Given the description of an element on the screen output the (x, y) to click on. 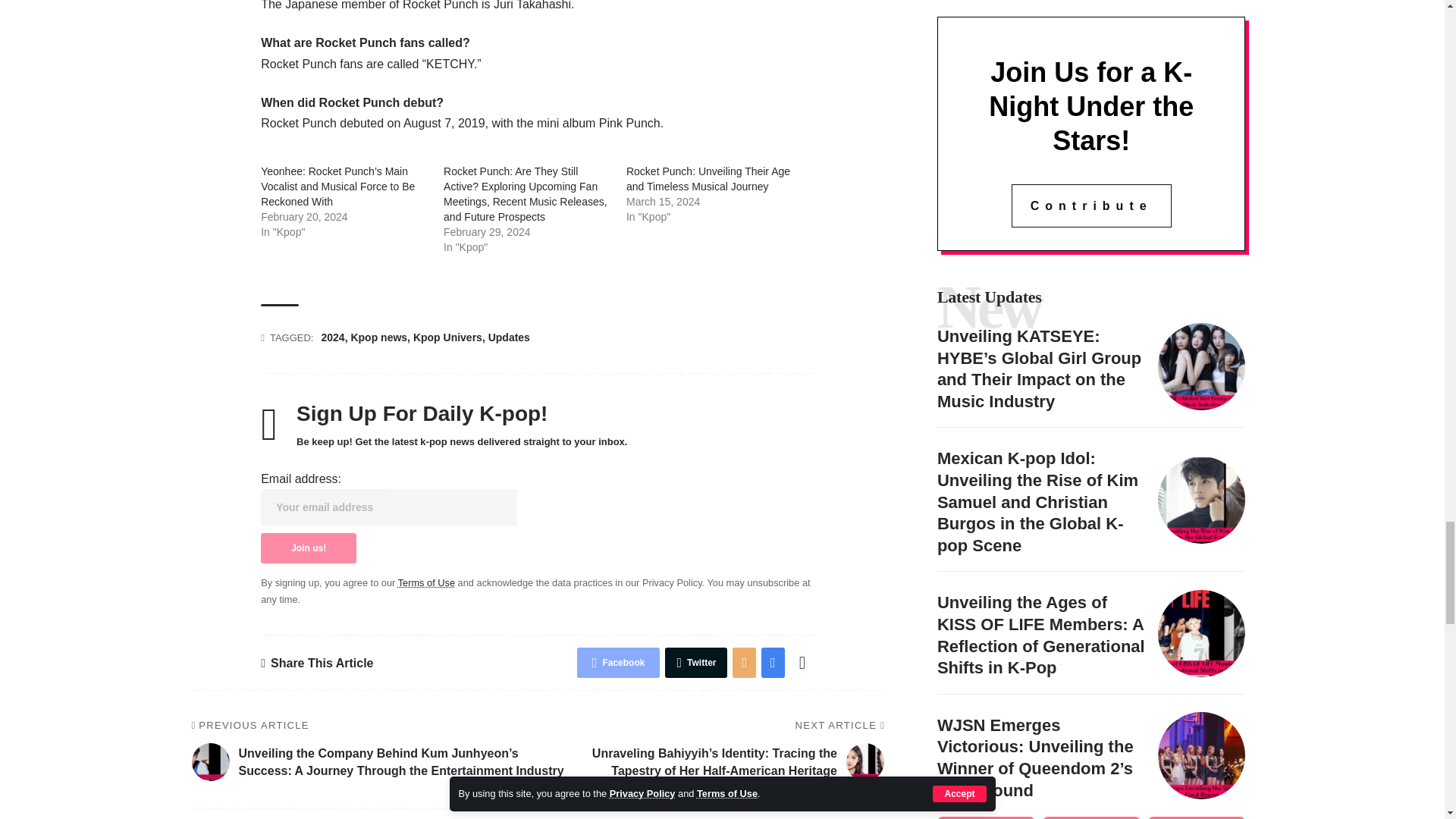
Join us! (308, 548)
